Given the description of an element on the screen output the (x, y) to click on. 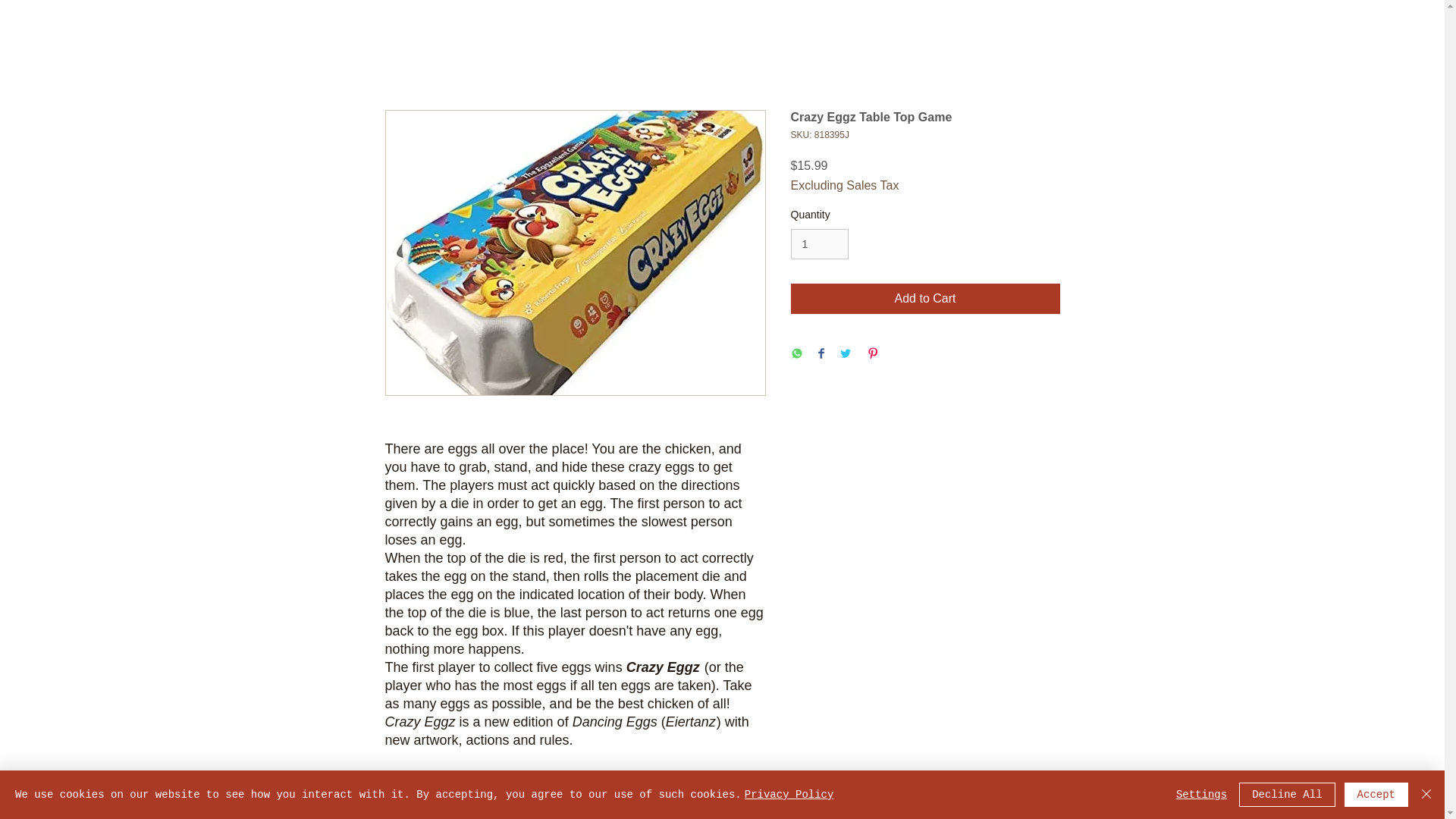
1 (818, 244)
Privacy Policy (789, 794)
Add to Cart (924, 298)
Decline All (1287, 794)
Accept (1375, 794)
